Given the description of an element on the screen output the (x, y) to click on. 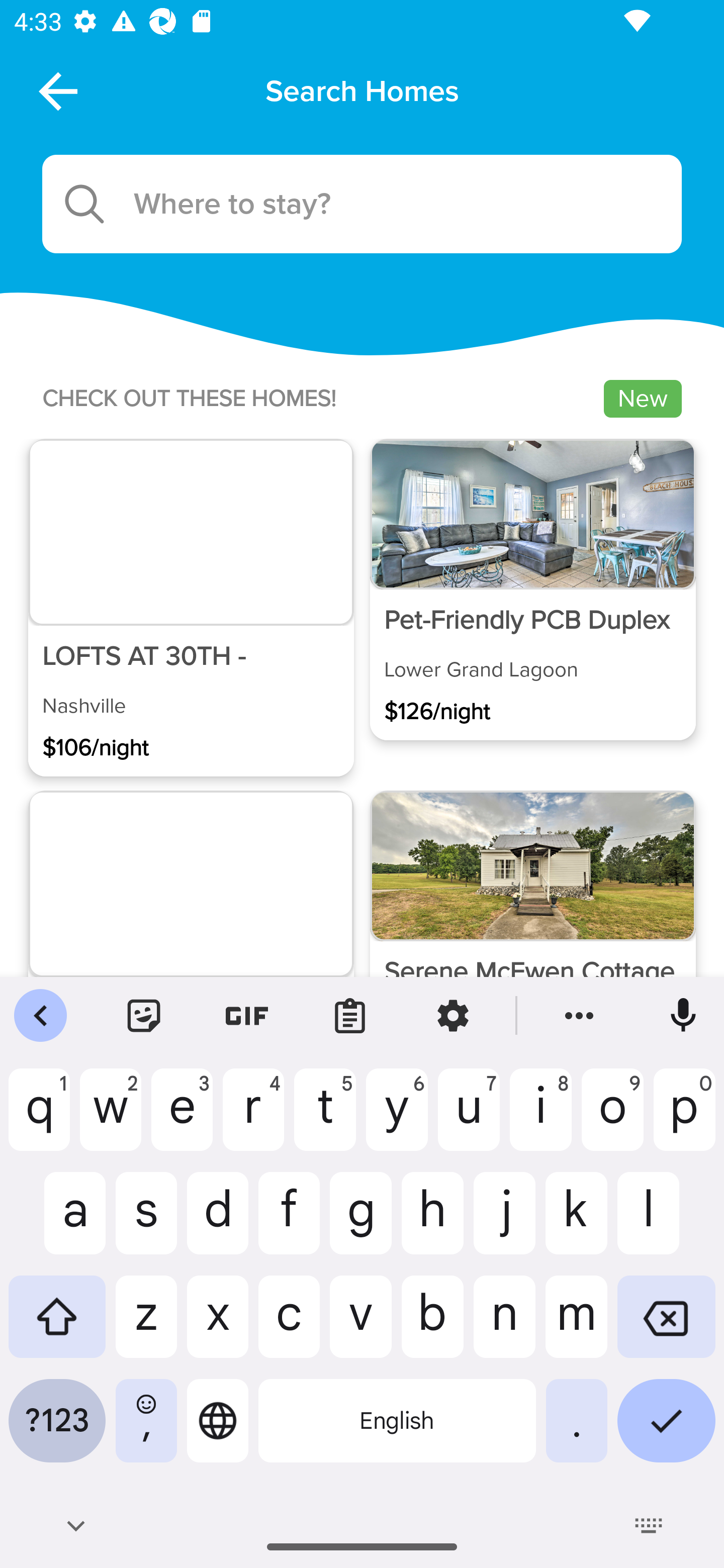
Icon close screen (55, 90)
Search icon Where to stay? (361, 204)
‍Serene McEwen Cottage ~ 2 Mi to Golf Course! (532, 940)
